Given the description of an element on the screen output the (x, y) to click on. 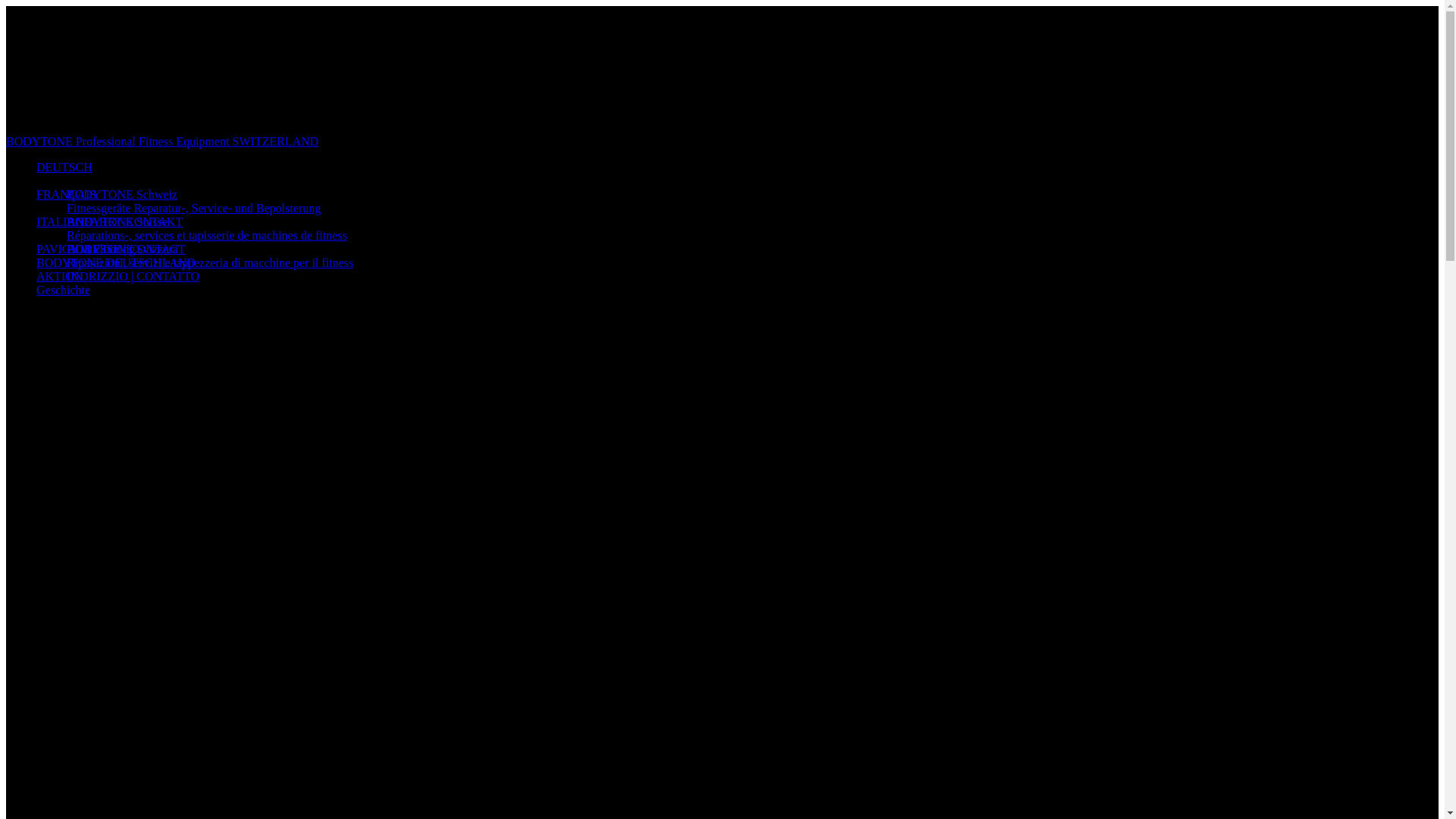
BODYTONE DEUTSCHLAND Element type: text (115, 262)
PAVIGYM Flooring Element type: text (85, 248)
AKTION Element type: text (59, 275)
ANFAHRT KONTAKT Element type: text (124, 221)
DEUTSCH Element type: text (64, 166)
ADRESSE | CONTACT Element type: text (125, 248)
INDRIZZIO | CONTATTO Element type: text (132, 275)
BODYTONE Professional Fitness Equipment SWITZERLAND Element type: text (722, 141)
BODYTONE Schweiz Element type: text (121, 194)
BODYTONE Svizzera Element type: text (122, 248)
Geschichte Element type: text (63, 289)
BODYTONE Suisse Element type: text (116, 221)
ITALIANO Element type: text (64, 221)
